Given the description of an element on the screen output the (x, y) to click on. 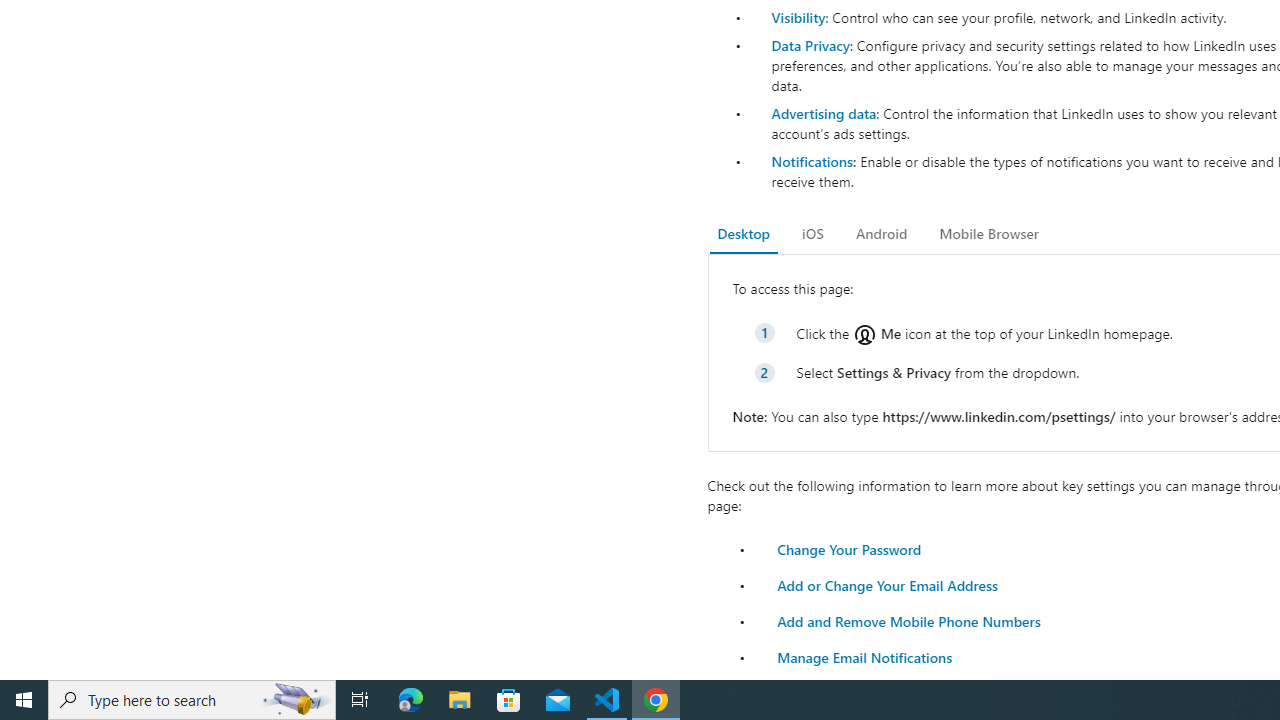
Advertising data (823, 112)
Desktop (744, 234)
Add and Remove Mobile Phone Numbers (908, 620)
Data Privacy (809, 44)
Android (881, 234)
iOS (812, 234)
Visibility (797, 17)
Notifications (811, 161)
Change Your Password (848, 548)
Add or Change Your Email Address (887, 584)
Mobile Browser (988, 234)
Manage Email Notifications (864, 656)
